Given the description of an element on the screen output the (x, y) to click on. 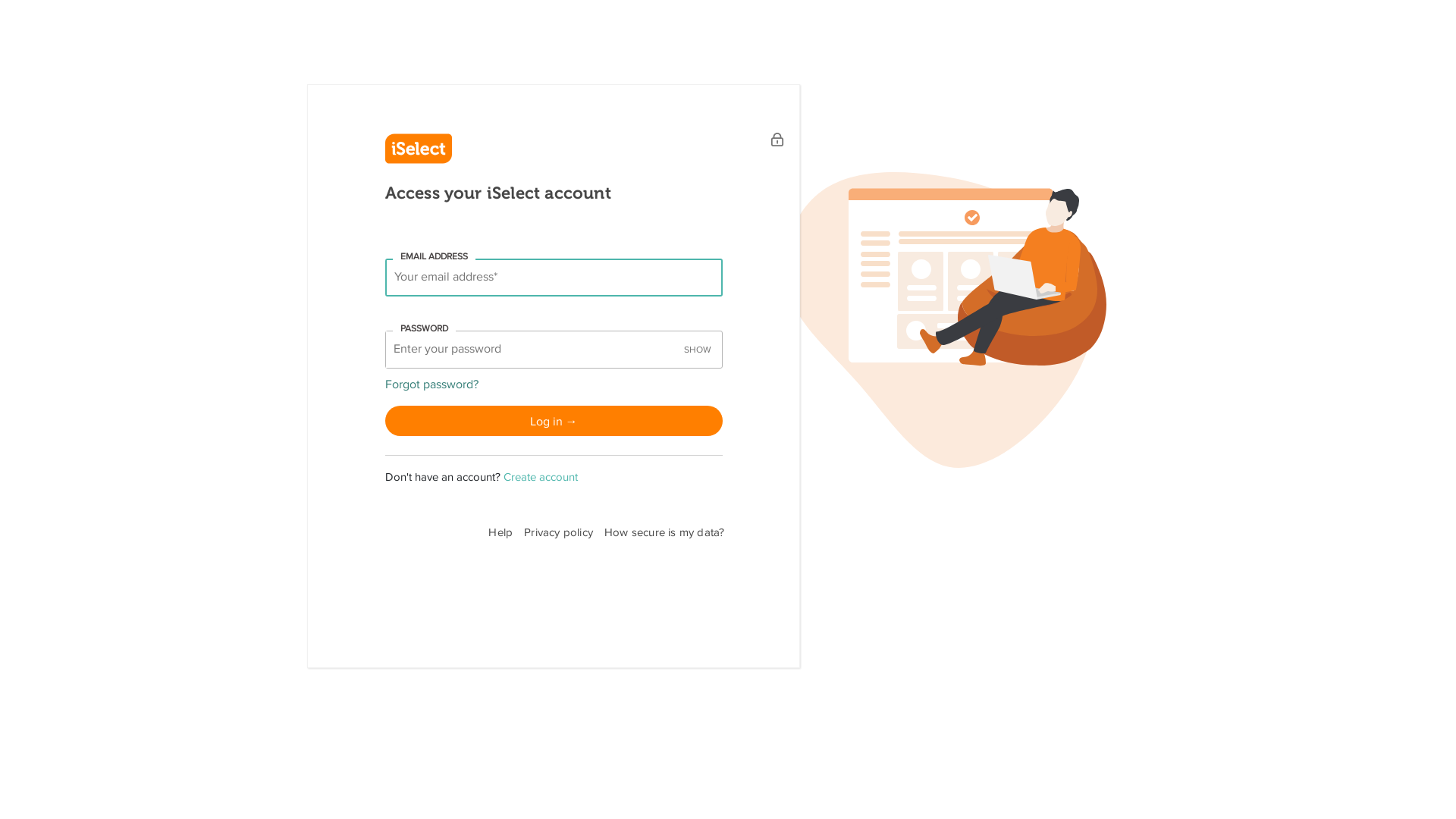
SHOW Element type: text (697, 349)
How secure is my data? Element type: text (669, 532)
Privacy policy Element type: text (564, 532)
Help Element type: text (506, 532)
